Given the description of an element on the screen output the (x, y) to click on. 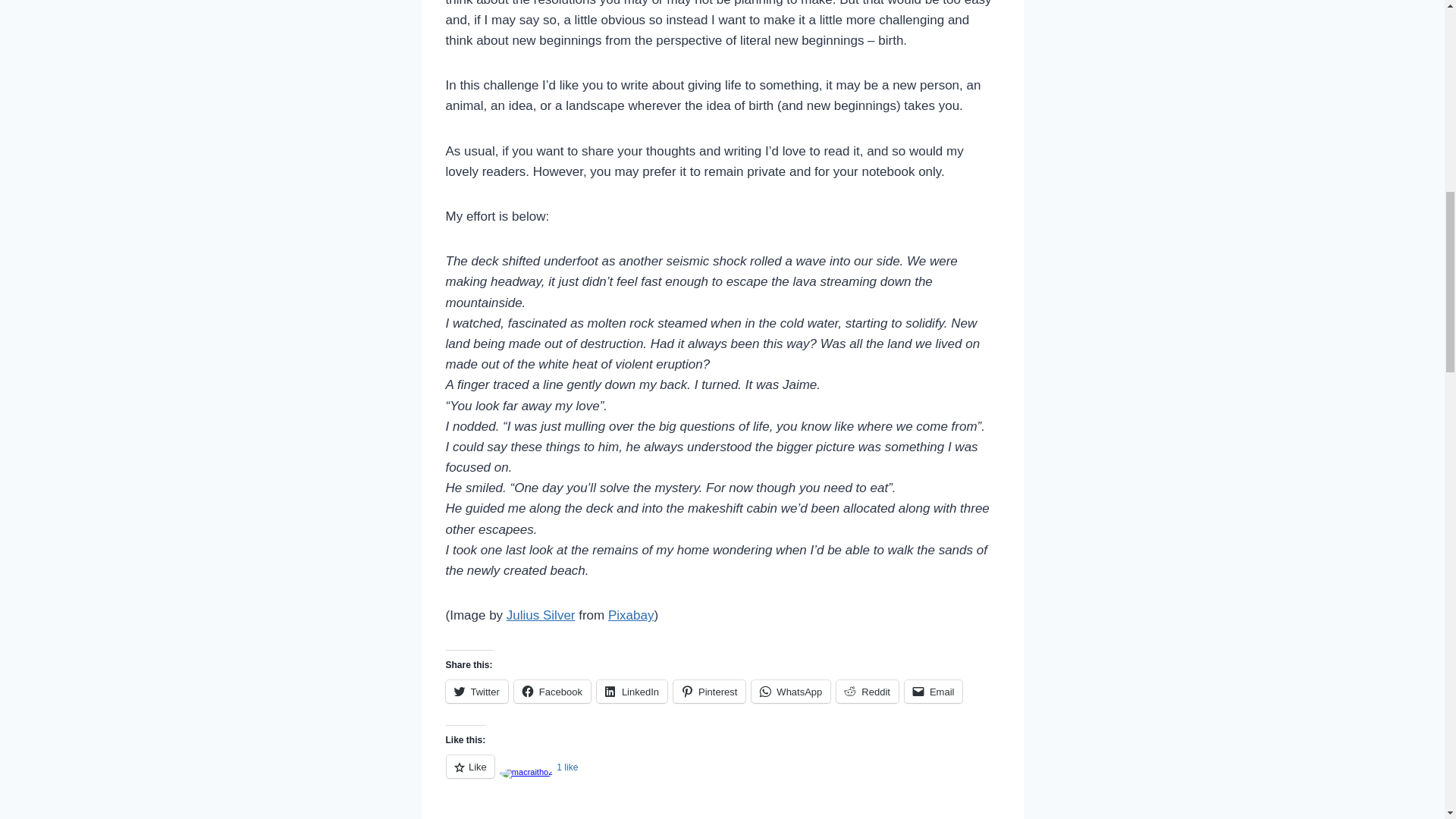
Like or Reblog (721, 775)
Click to share on Facebook (552, 691)
Julius Silver (540, 615)
Click to share on Reddit (866, 691)
Click to share on Pinterest (708, 691)
Click to share on Twitter (476, 691)
WhatsApp (790, 691)
Pinterest (708, 691)
Reddit (866, 691)
Facebook (552, 691)
Pixabay (630, 615)
Click to email a link to a friend (933, 691)
LinkedIn (631, 691)
Email (933, 691)
Click to share on LinkedIn (631, 691)
